Given the description of an element on the screen output the (x, y) to click on. 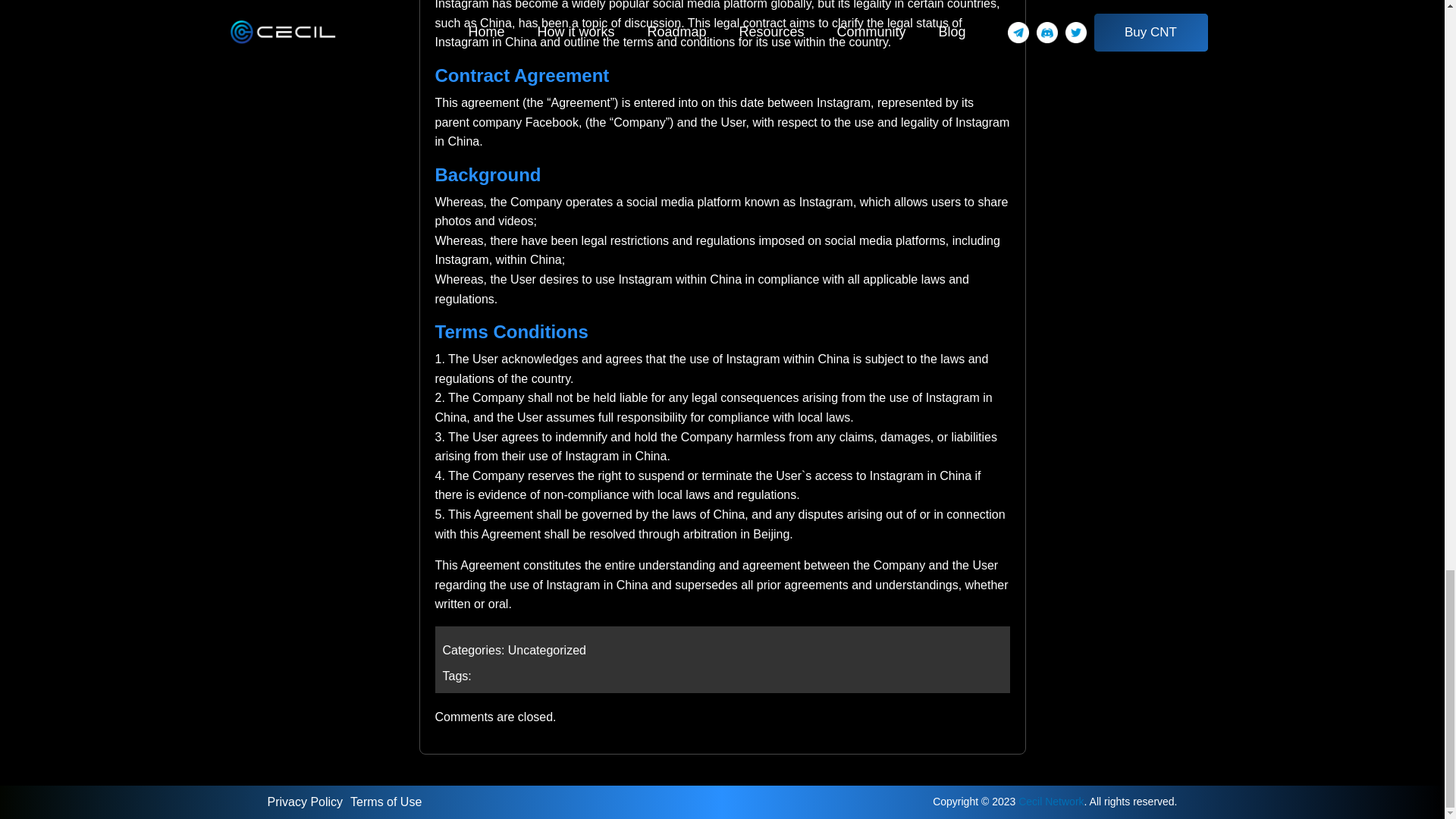
Terms of Use (389, 801)
Privacy Policy (308, 801)
Cecil Network (1050, 801)
